Given the description of an element on the screen output the (x, y) to click on. 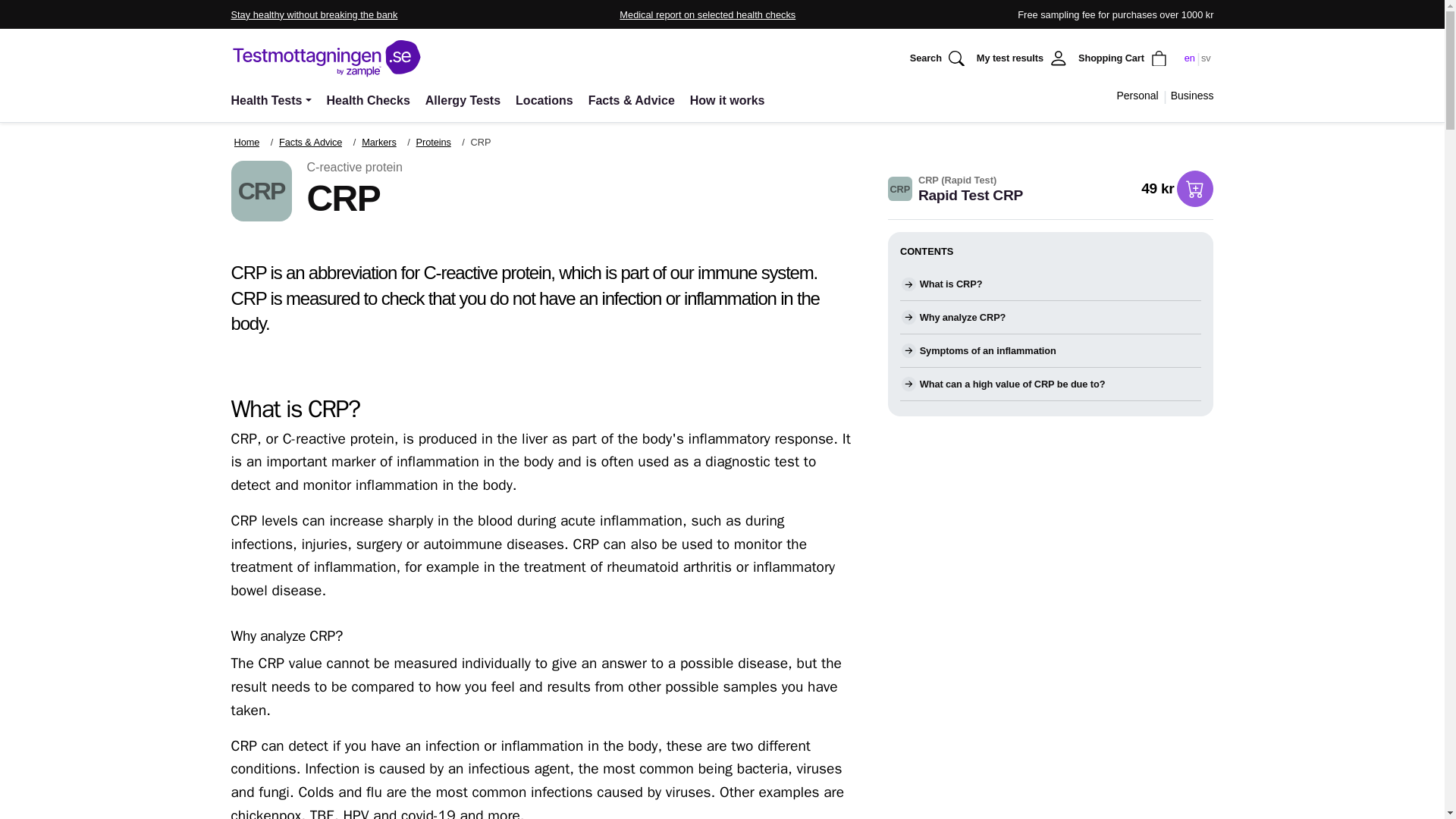
Business (1192, 95)
Personal (1136, 95)
Health Checks (368, 100)
How it works (727, 100)
Search (938, 57)
Allergy Tests (462, 100)
Shopping Cart (1124, 57)
My test results (1023, 57)
Locations (544, 100)
Health Tests (273, 100)
Stay healthy without breaking the bank (313, 14)
Medical report on selected health checks (707, 14)
